Given the description of an element on the screen output the (x, y) to click on. 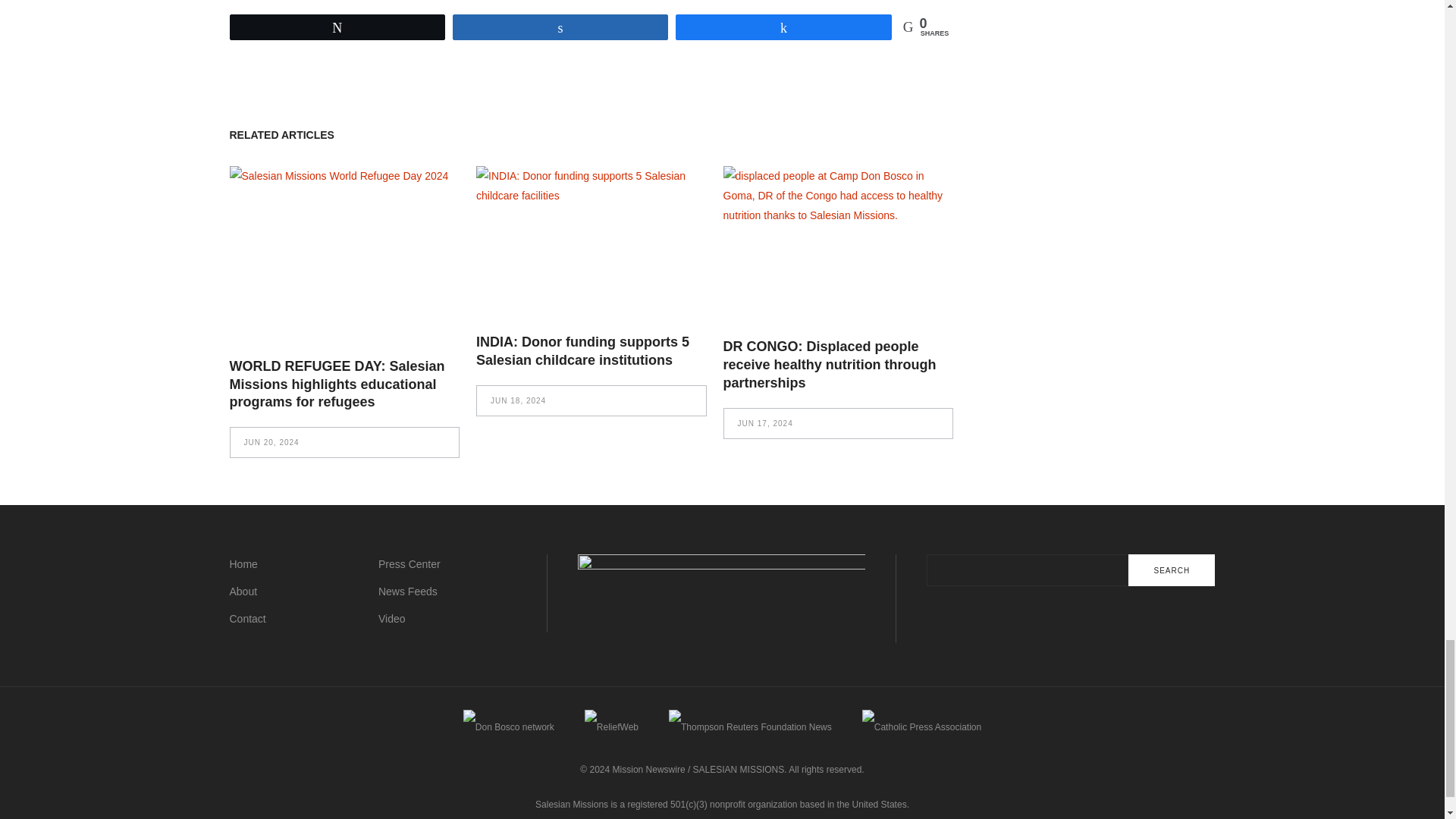
Search (1171, 570)
